Given the description of an element on the screen output the (x, y) to click on. 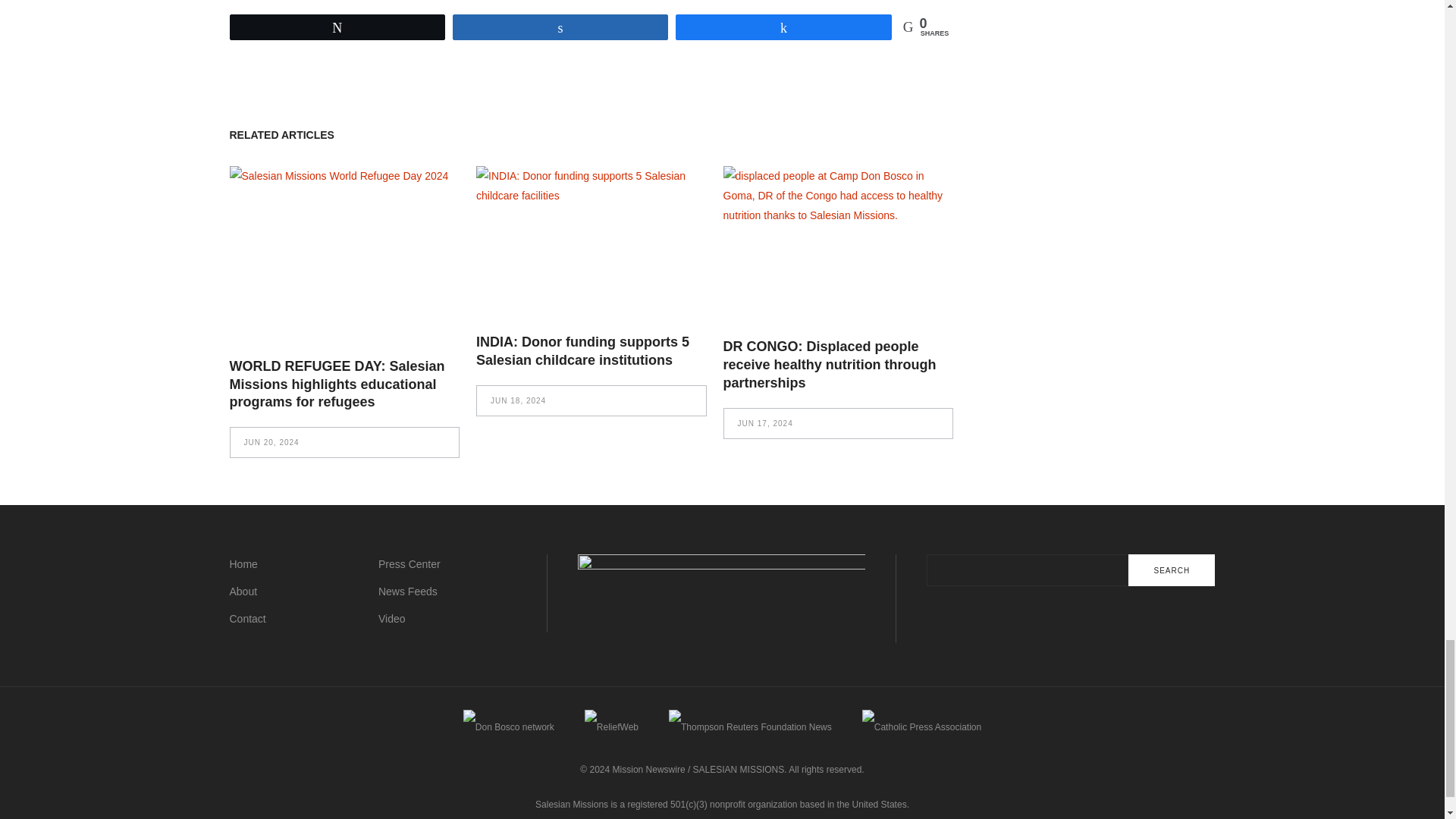
Search (1171, 570)
